Given the description of an element on the screen output the (x, y) to click on. 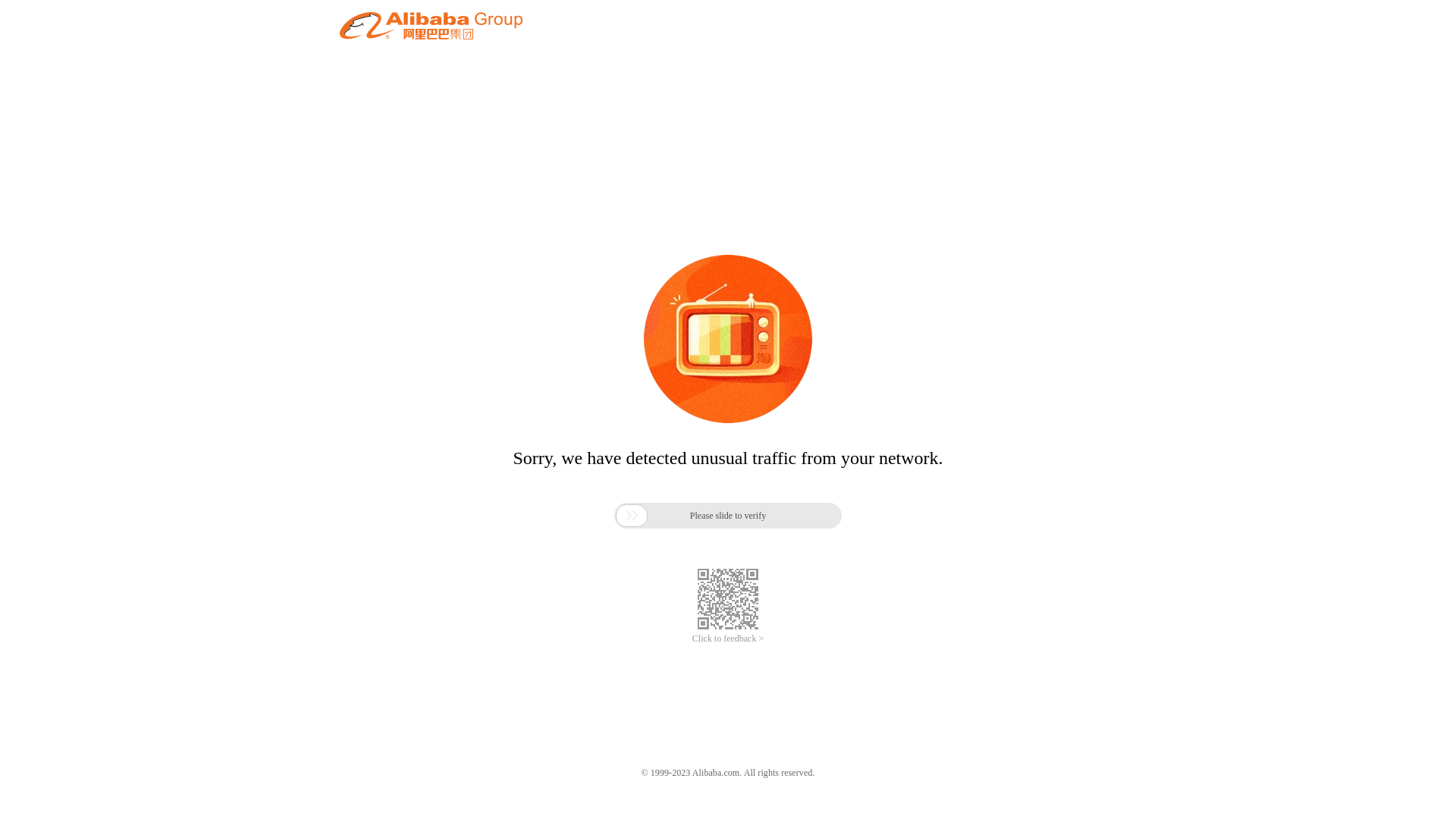
Click to feedback > Element type: text (727, 638)
